Given the description of an element on the screen output the (x, y) to click on. 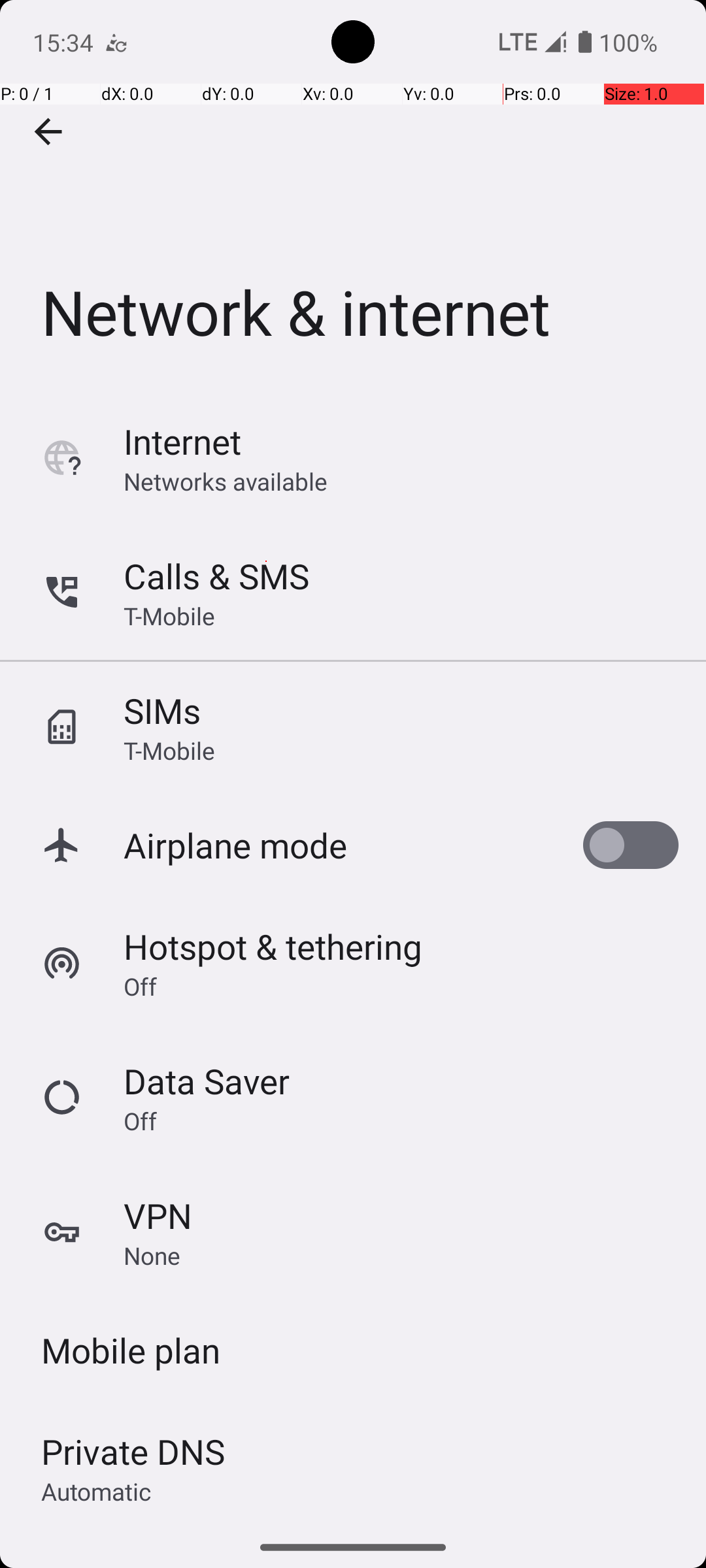
Networks available Element type: android.widget.TextView (225, 480)
Calls & SMS Element type: android.widget.TextView (216, 575)
SIMs Element type: android.widget.TextView (161, 710)
Airplane mode Element type: android.widget.TextView (235, 844)
Hotspot & tethering Element type: android.widget.TextView (272, 946)
VPN Element type: android.widget.TextView (157, 1215)
Mobile plan Element type: android.widget.TextView (130, 1349)
Private DNS Element type: android.widget.TextView (132, 1451)
Automatic Element type: android.widget.TextView (96, 1490)
